Given the description of an element on the screen output the (x, y) to click on. 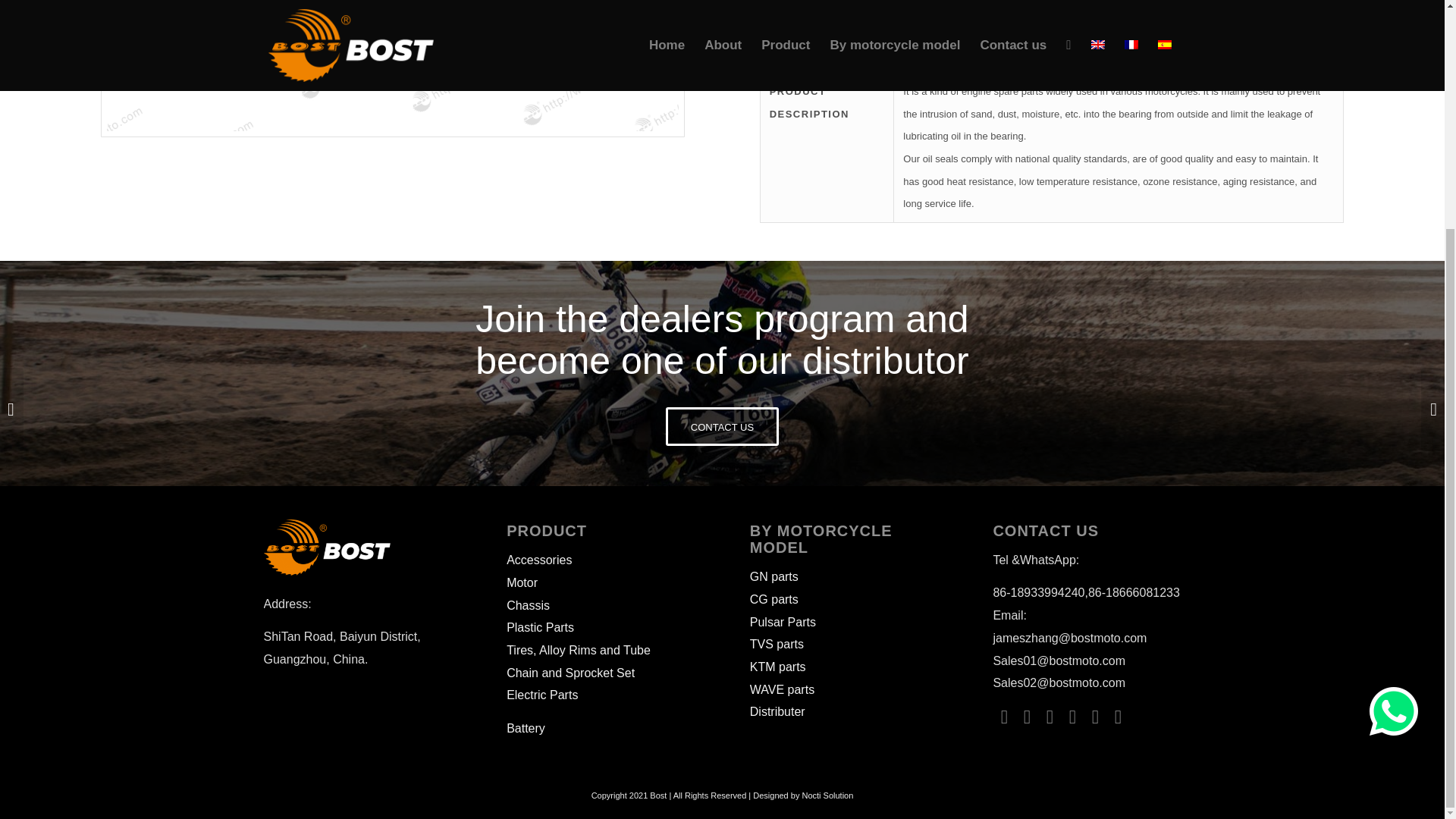
Motor (521, 582)
Plastic Parts (539, 626)
CONTACT US (721, 426)
Youtube (1117, 715)
Chassis (528, 604)
Facebook (1003, 715)
Linkedin (1049, 715)
KTM parts (777, 666)
Chain and Sprocket Set (570, 672)
Distributer (777, 711)
Skype (1094, 715)
Tires, Alloy Rims and Tube (578, 649)
GN parts (773, 576)
Twitter (1026, 715)
SAMSUNG CAMERA PICTURES (392, 68)
